Given the description of an element on the screen output the (x, y) to click on. 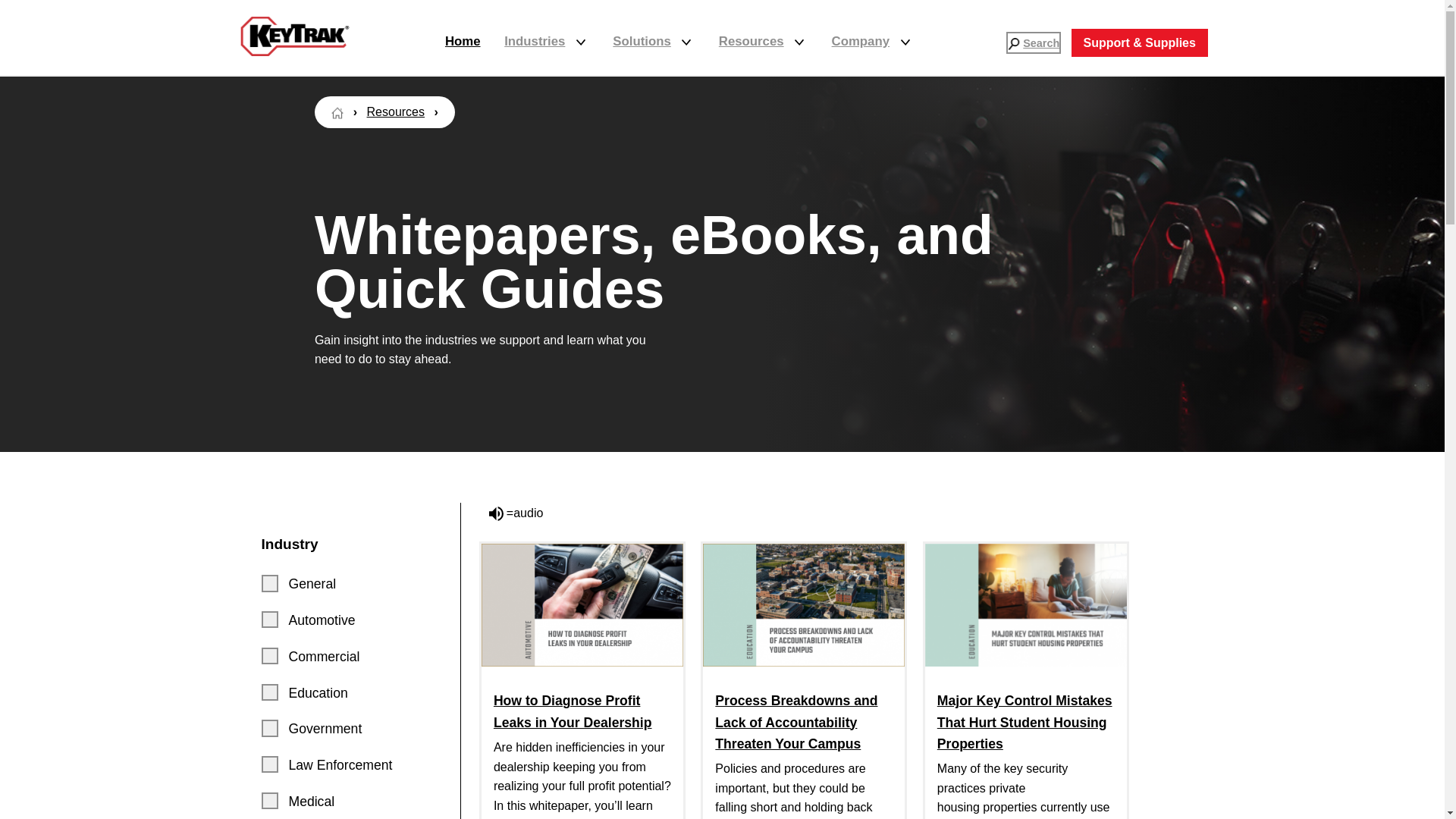
Home (337, 112)
Search Search (1033, 42)
Solutions (653, 42)
Industries (546, 42)
KeyTrak Logo (293, 36)
Search (1013, 43)
Resources (763, 42)
Company (872, 42)
KeyTrak Logo (293, 51)
